Given the description of an element on the screen output the (x, y) to click on. 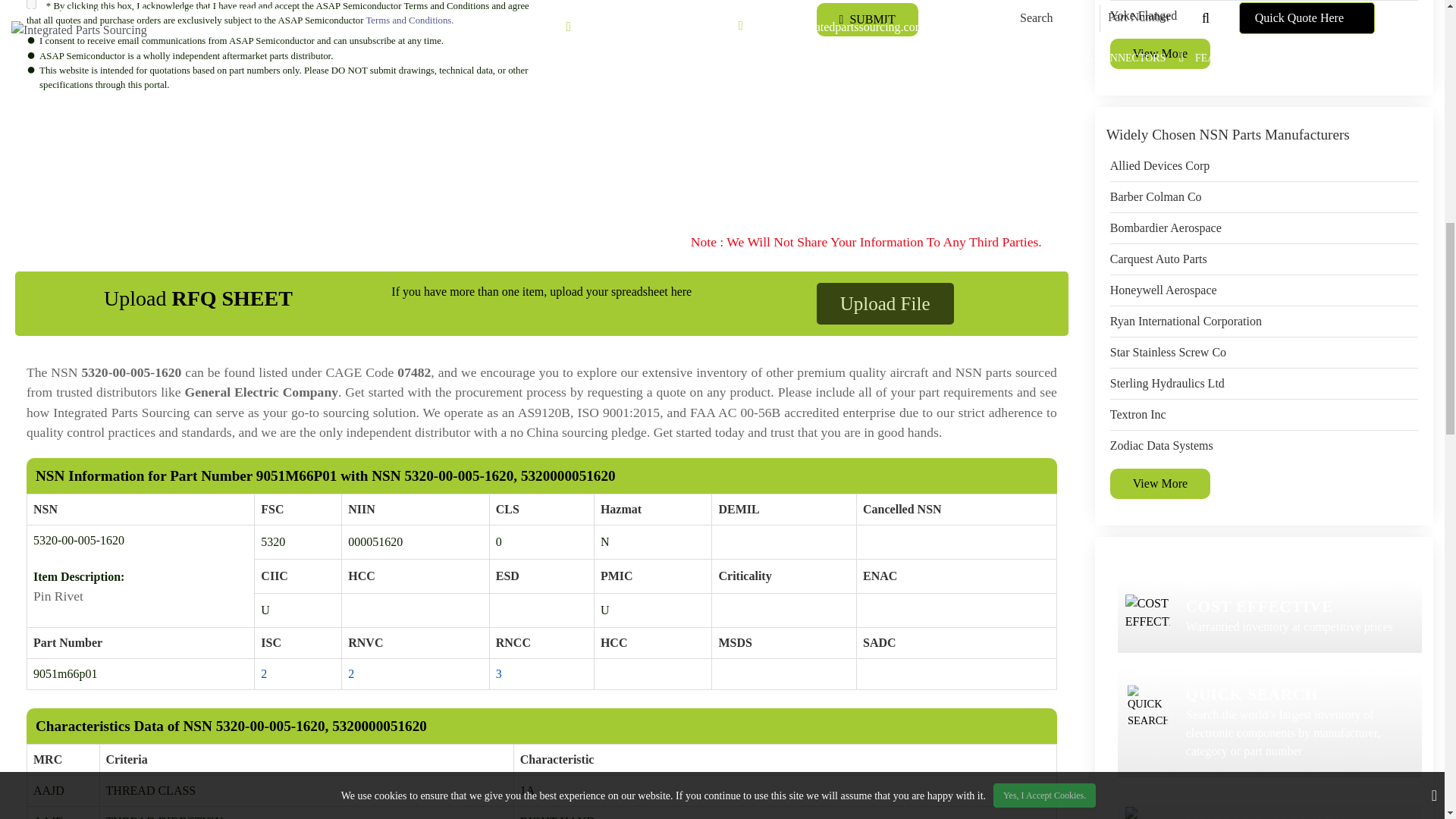
RFQ disclaimer (541, 162)
Allied Devices Corp (1159, 166)
on (31, 4)
